Given the description of an element on the screen output the (x, y) to click on. 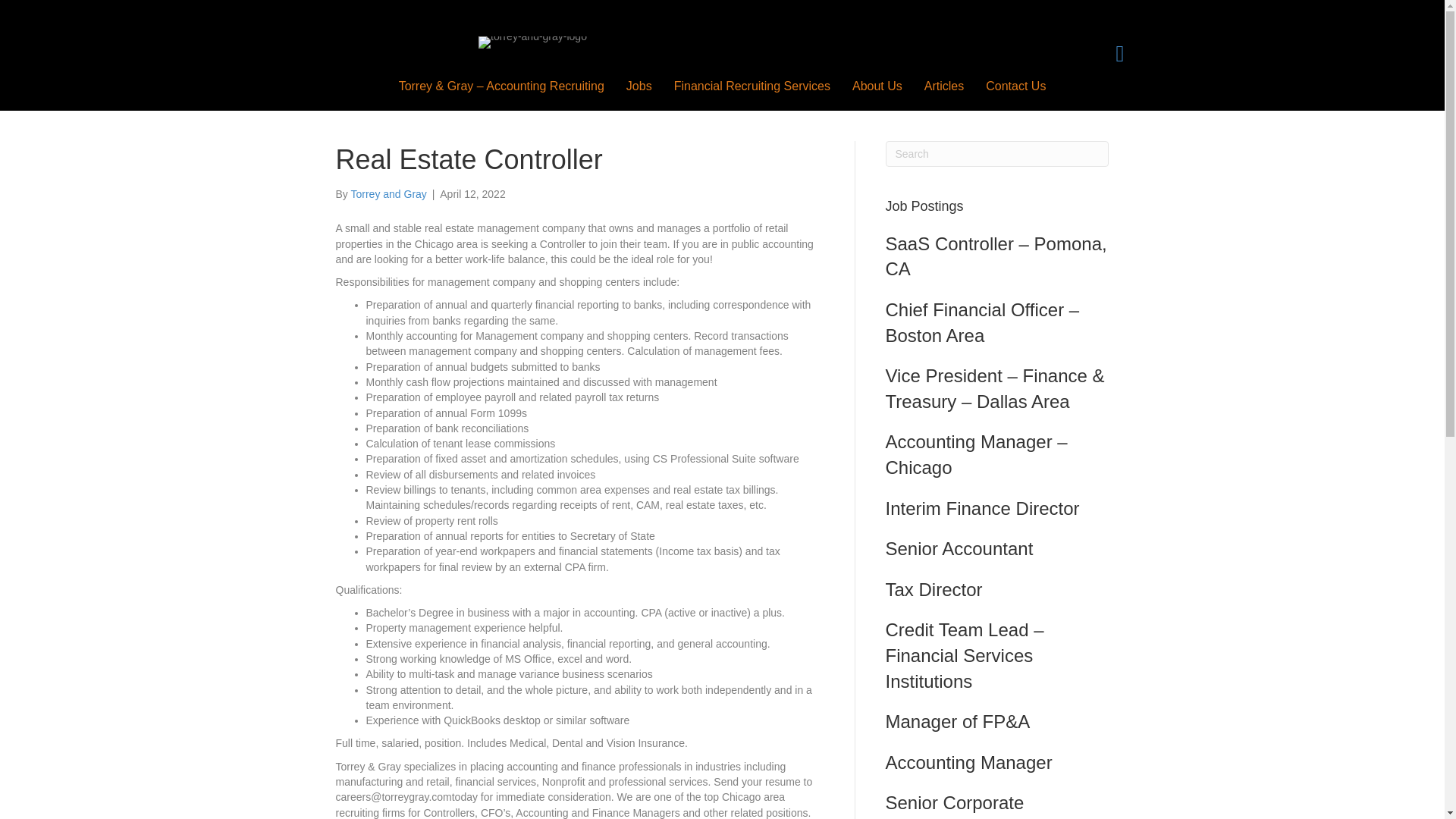
Torrey and Gray (388, 193)
About Us (876, 86)
Contact Us (1016, 86)
Financial Recruiting Services (752, 86)
Senior Accountant (959, 548)
Jobs (638, 86)
Senior Corporate Accountant (955, 805)
Articles (944, 86)
Accounting Manager (968, 762)
Type and press Enter to search. (997, 153)
Tax Director (933, 589)
Interim Finance Director (982, 507)
torrey-and-gray-logo (532, 42)
